Given the description of an element on the screen output the (x, y) to click on. 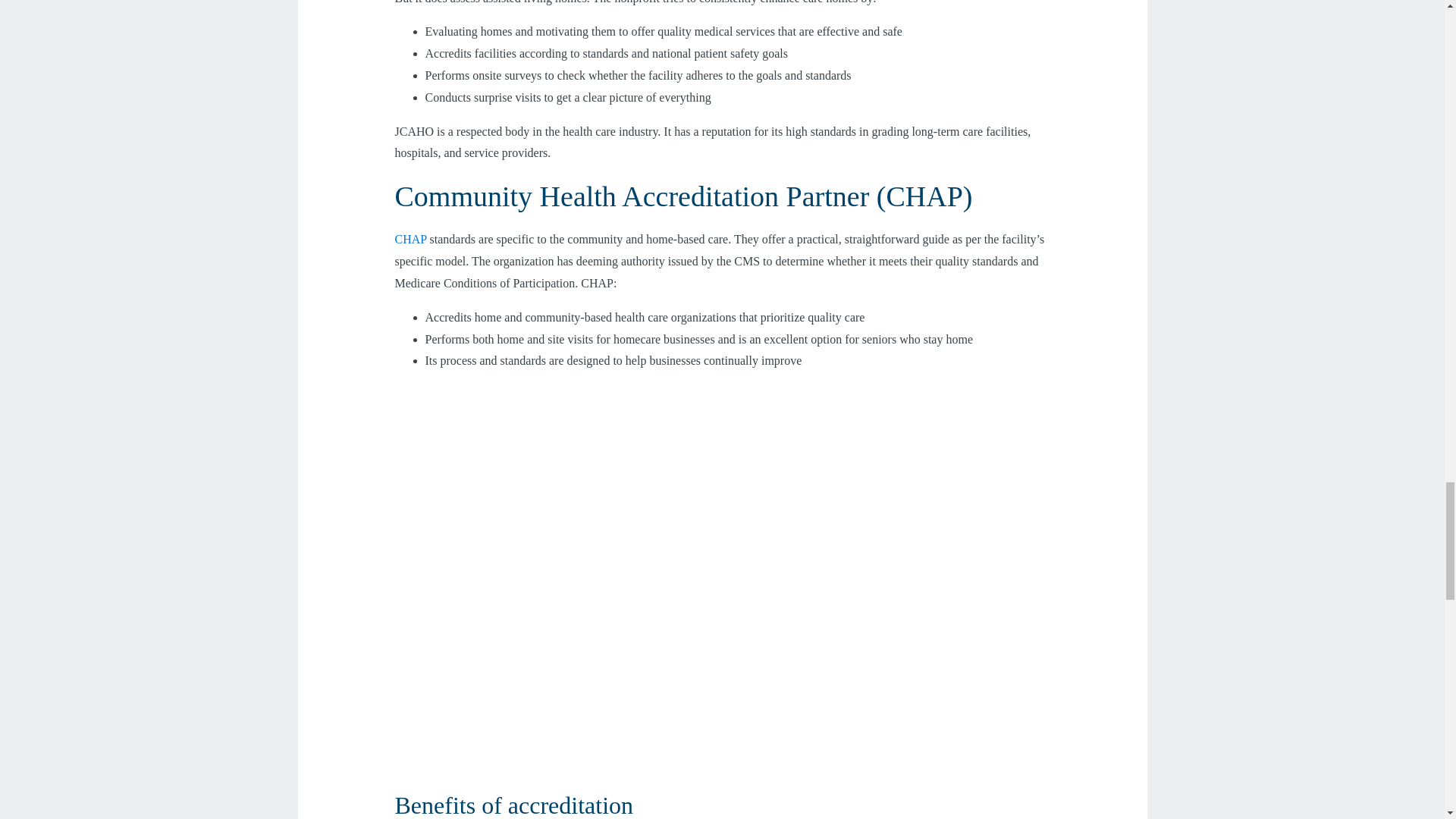
CHAP (410, 238)
